Given the description of an element on the screen output the (x, y) to click on. 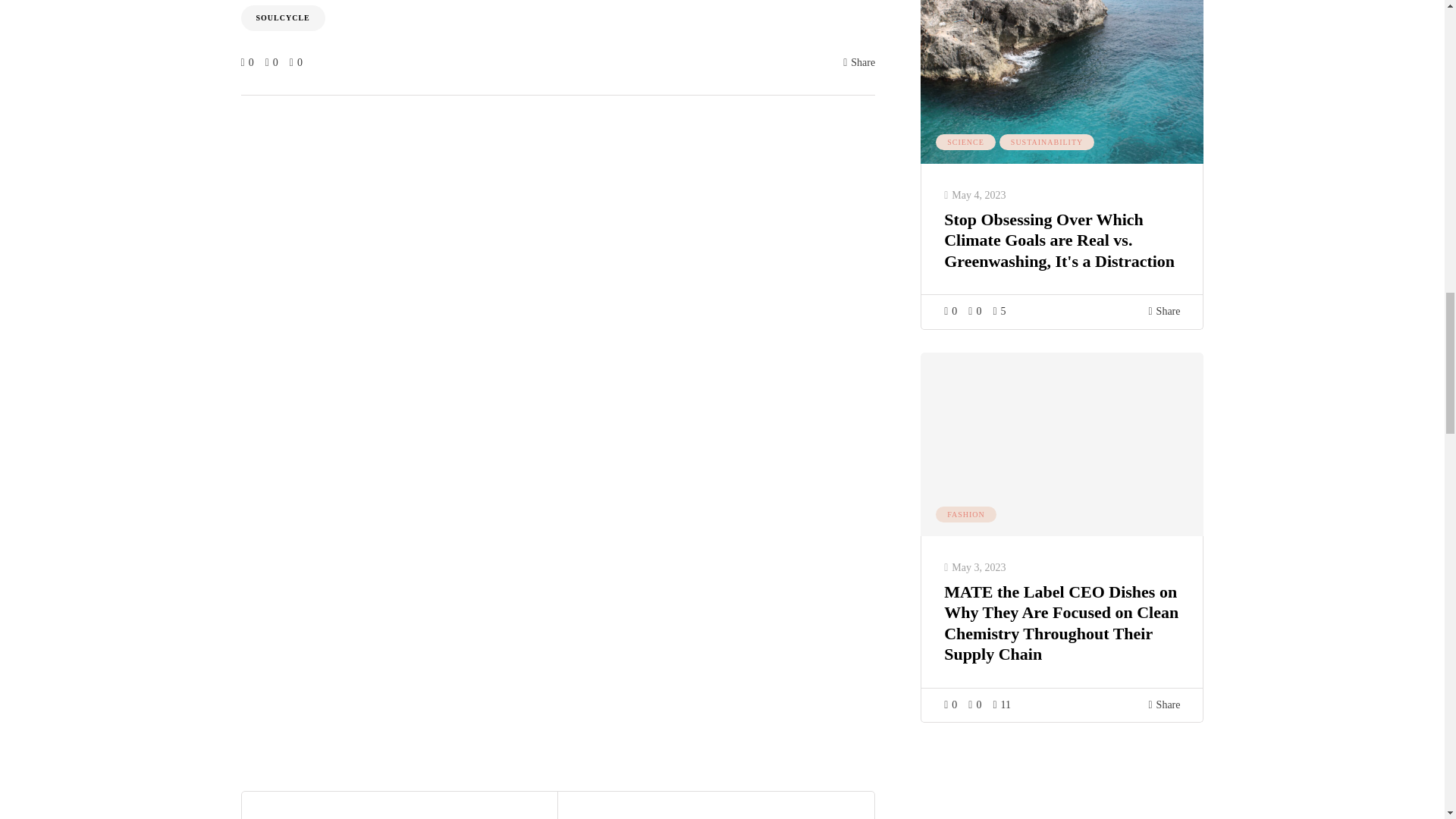
SOULCYCLE (282, 17)
